Given the description of an element on the screen output the (x, y) to click on. 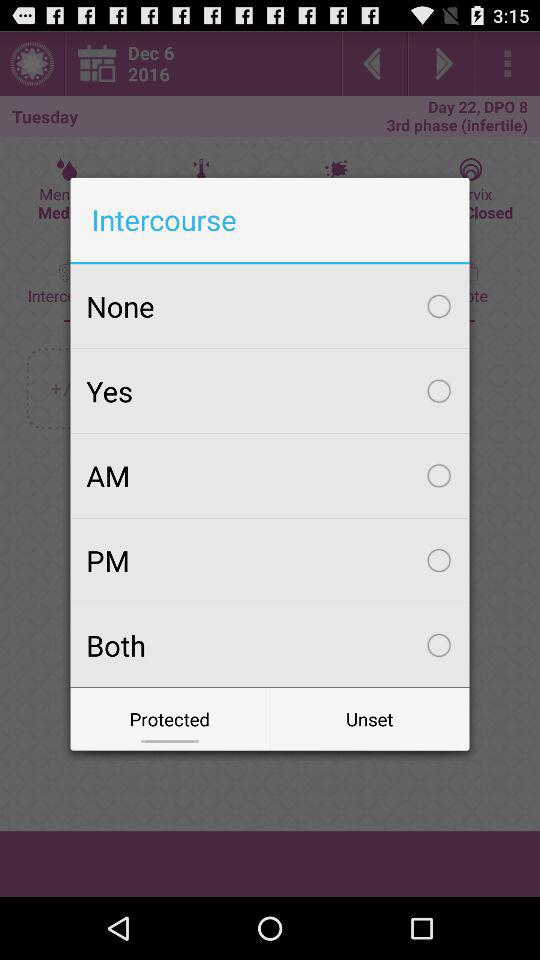
jump until both (269, 645)
